Given the description of an element on the screen output the (x, y) to click on. 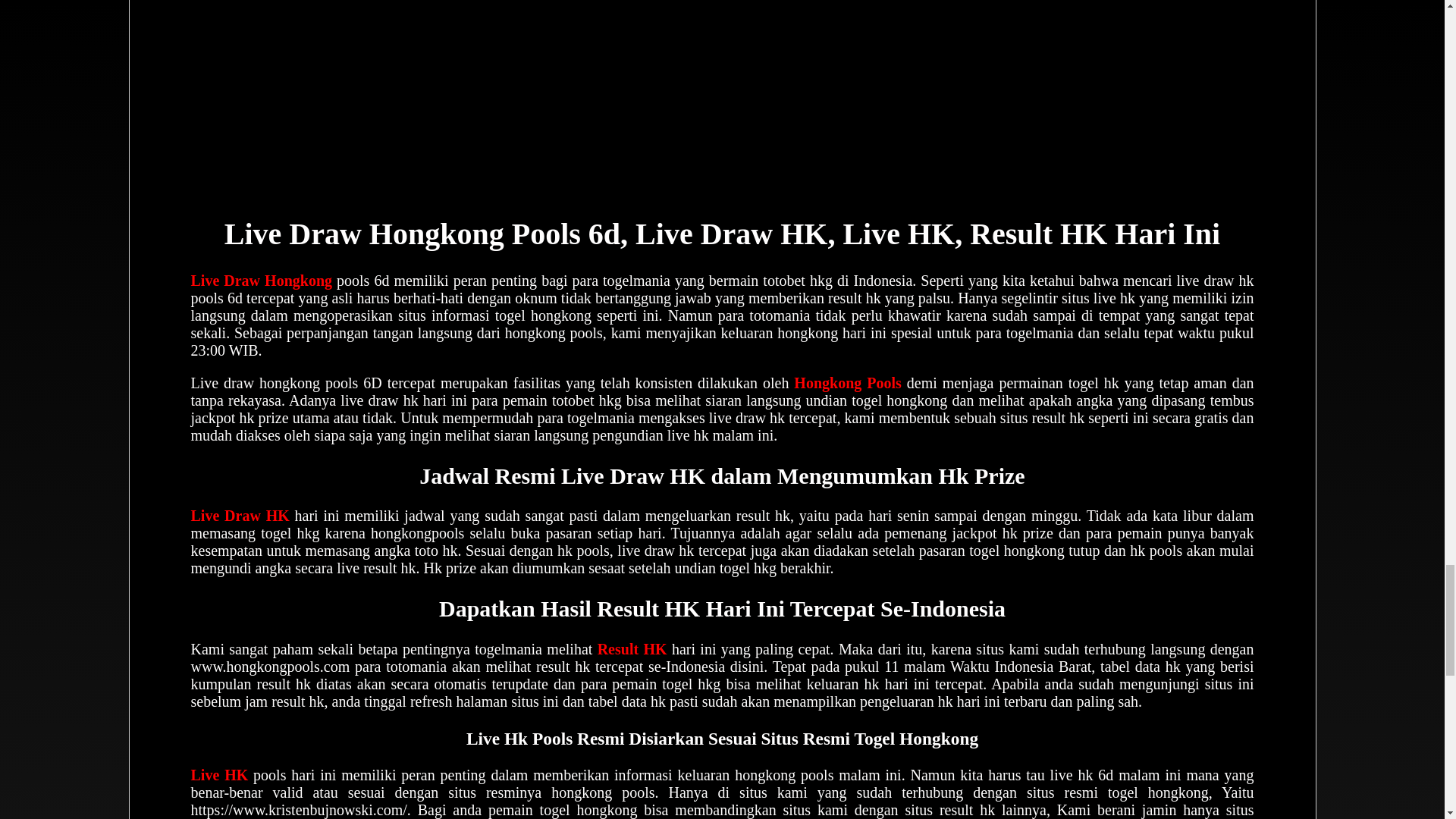
Live Draw HK (239, 515)
Live HK (219, 774)
Hongkong Pools (847, 382)
Result HK (631, 648)
Live Draw Hongkong (261, 280)
